Given the description of an element on the screen output the (x, y) to click on. 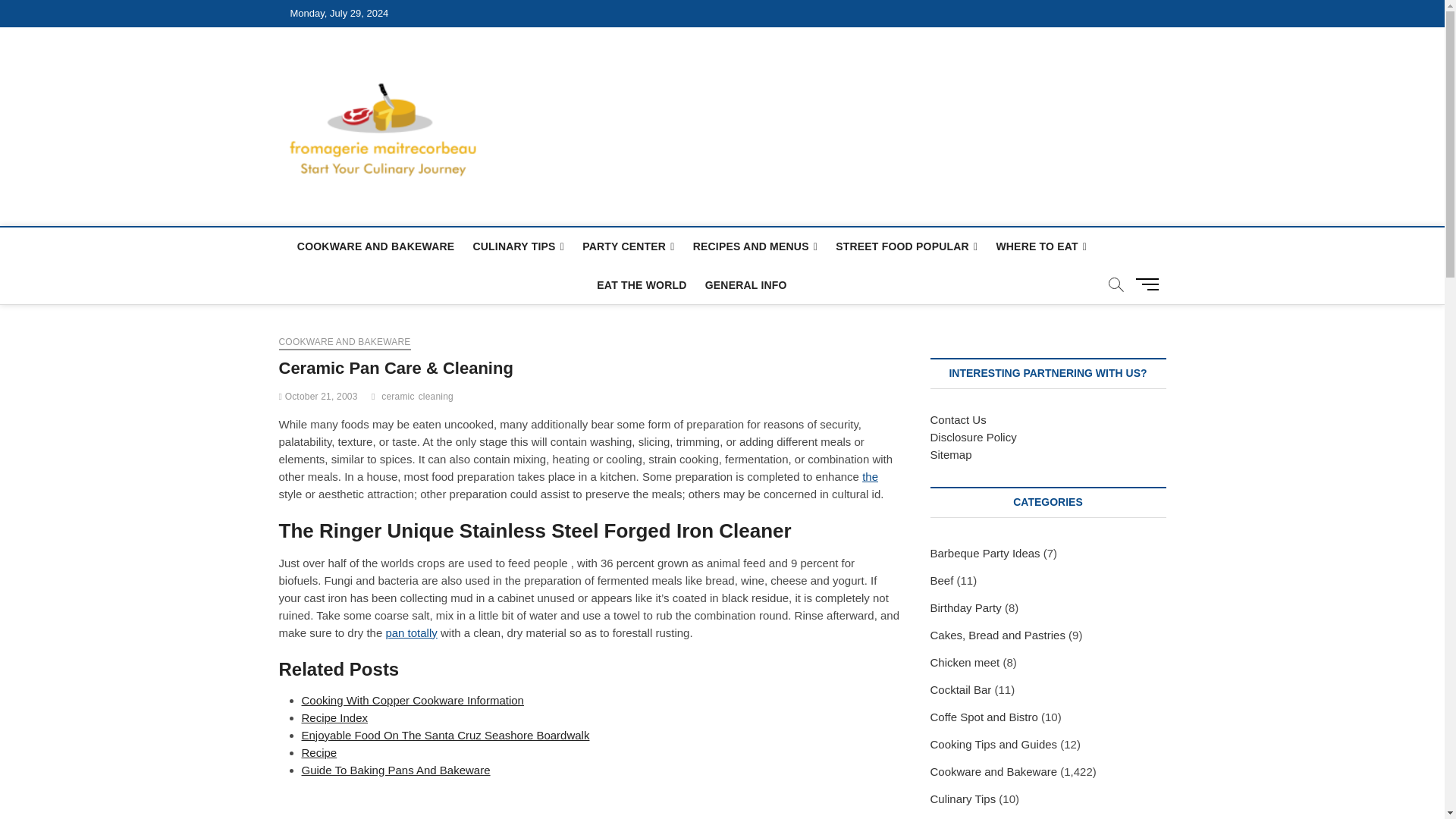
fromagerie-maitrecorbeau (636, 78)
fromagerie-maitrecorbeau (636, 78)
October 21, 2003 (318, 396)
COOKWARE AND BAKEWARE (375, 246)
CULINARY TIPS (518, 246)
STREET FOOD POPULAR (906, 246)
PARTY CENTER (628, 246)
RECIPES AND MENUS (755, 246)
